Given the description of an element on the screen output the (x, y) to click on. 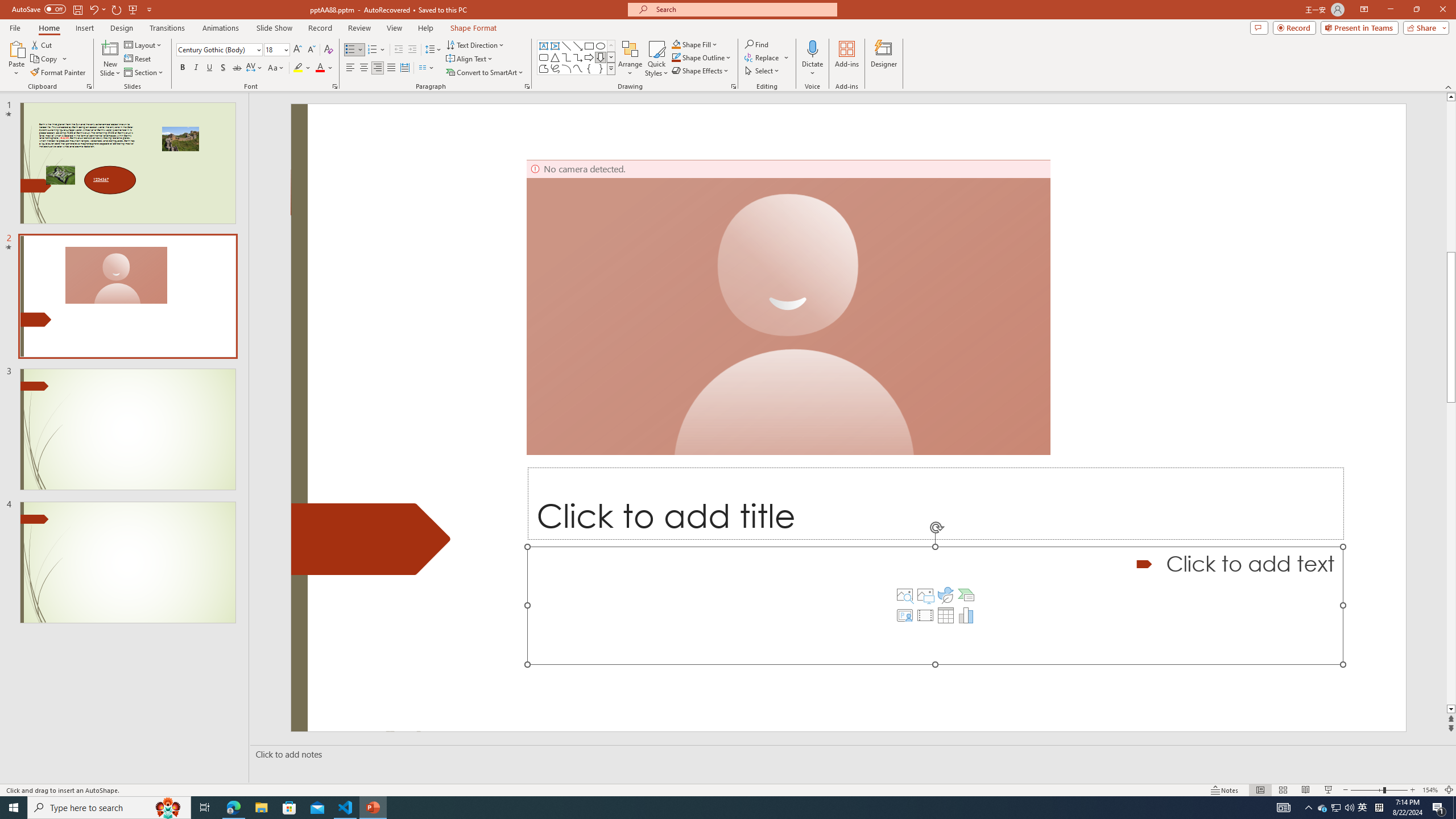
Shape Outline Teal, Accent 1 (675, 56)
